Given the description of an element on the screen output the (x, y) to click on. 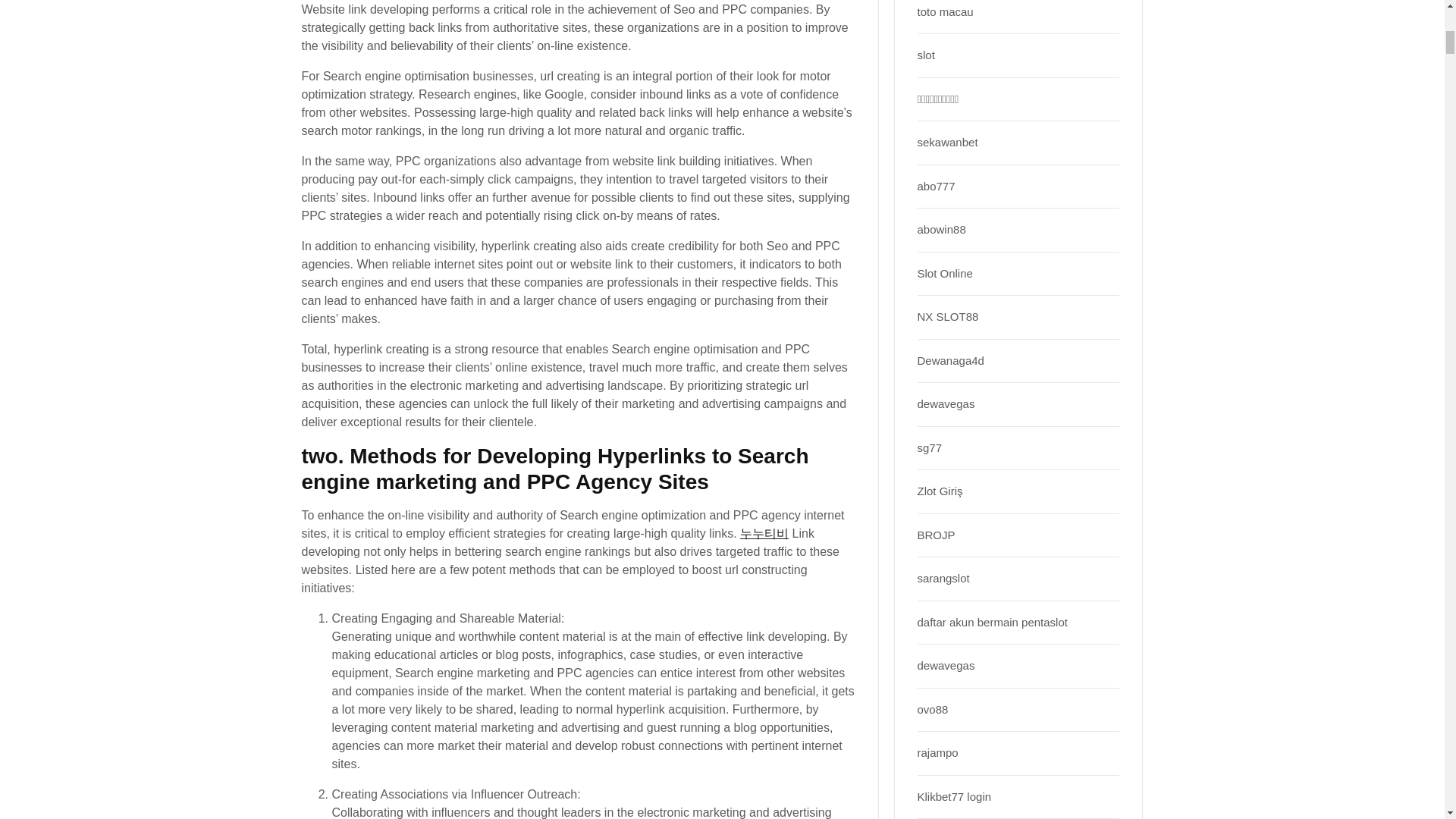
abo777 (936, 185)
sekawanbet (947, 141)
NX SLOT88 (947, 316)
sg77 (929, 447)
dewavegas (946, 403)
ovo88 (933, 708)
sarangslot (943, 577)
daftar akun bermain pentaslot (992, 621)
dewavegas (946, 665)
slot (925, 54)
Dewanaga4d (950, 359)
Slot Online (944, 273)
rajampo (937, 752)
BROJP (936, 534)
Klikbet77 login (954, 796)
